Given the description of an element on the screen output the (x, y) to click on. 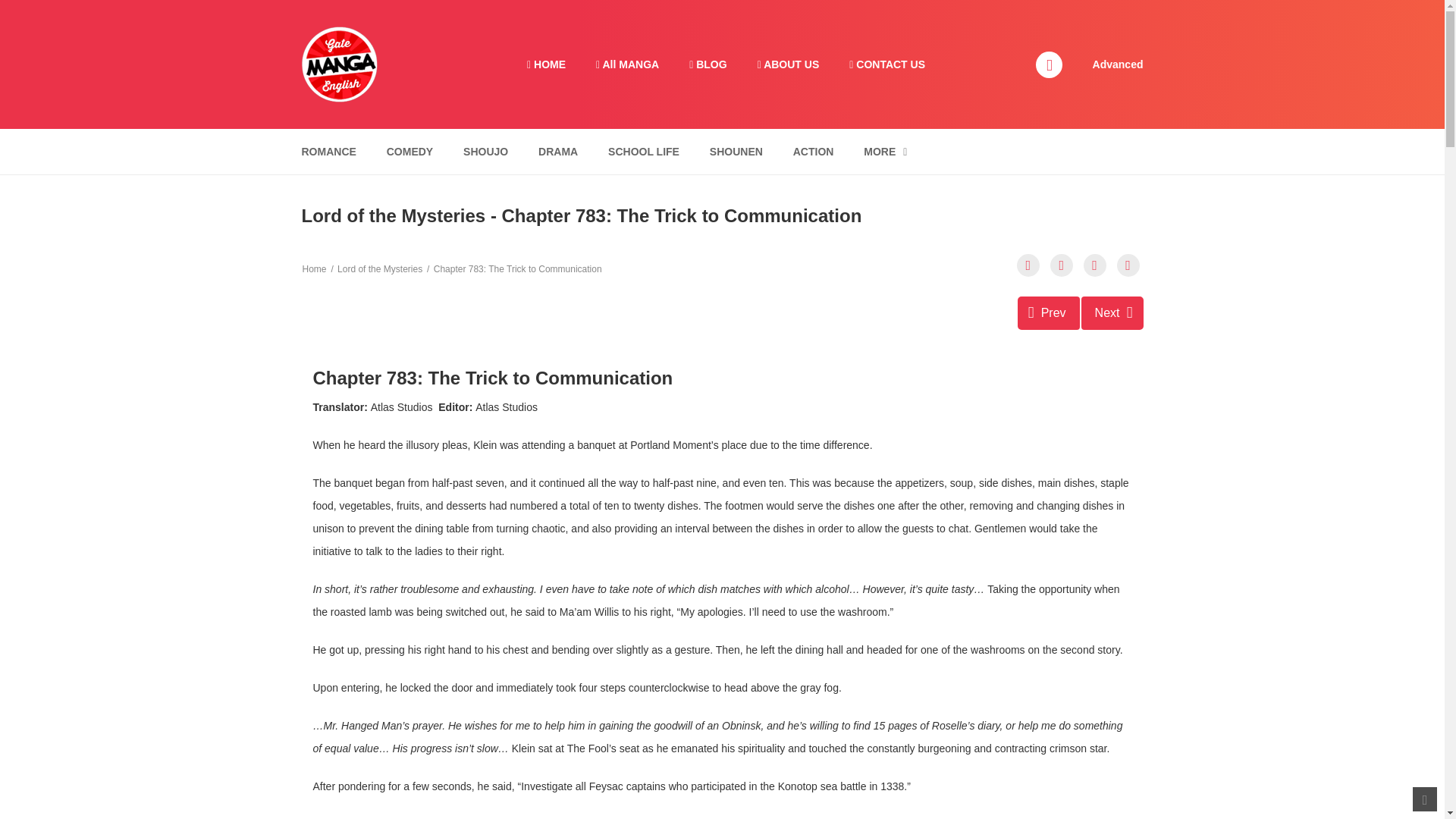
Bookmark (1094, 264)
BLOG (707, 64)
Gate Manga (339, 63)
COMEDY (409, 151)
MORE (885, 151)
ROMANCE (328, 151)
DRAMA (558, 151)
SHOUNEN (736, 151)
ABOUT US (788, 64)
Chapter 784: Character Assassination (1111, 313)
